Given the description of an element on the screen output the (x, y) to click on. 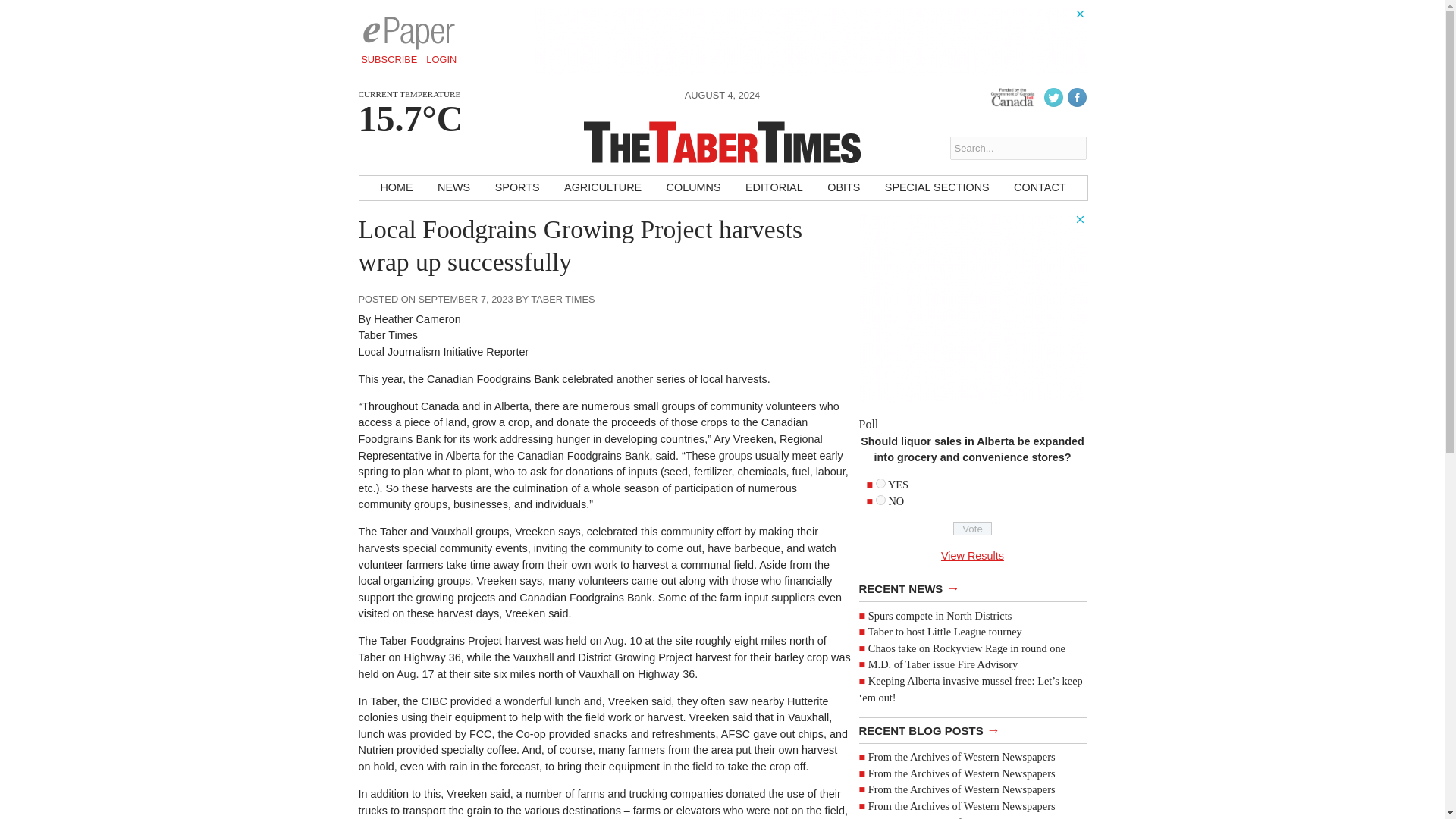
HOME (396, 187)
NEWS (453, 187)
528 (880, 500)
CONTACT (1039, 187)
Spurs compete in North Districts (939, 615)
SUBSCRIBE (389, 58)
SPORTS (517, 187)
527 (880, 483)
View Results Of This Poll (972, 555)
M.D. of Taber issue Fire Advisory (942, 664)
From the Archives of Western Newspapers (961, 773)
Chaos take on Rockyview Rage in round one (966, 648)
EDITORIAL (774, 187)
COLUMNS (694, 187)
   Vote    (972, 528)
